Given the description of an element on the screen output the (x, y) to click on. 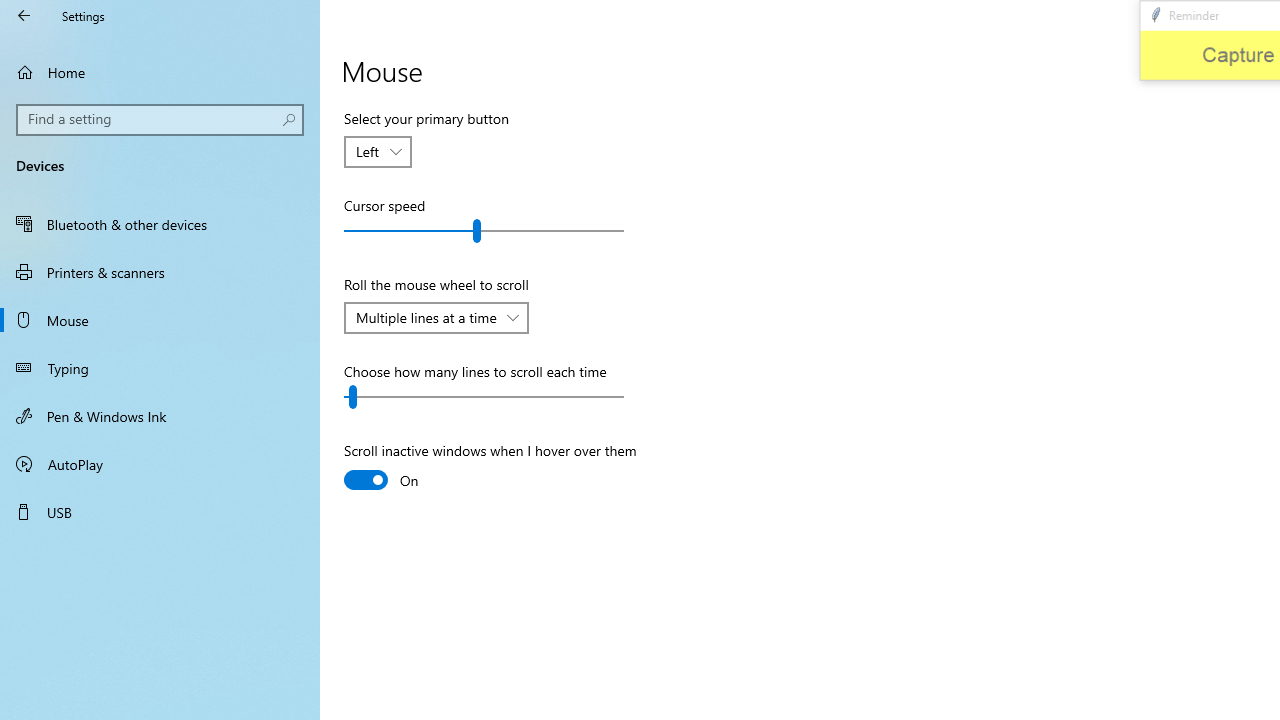
Back (24, 15)
Mouse (160, 319)
